Given the description of an element on the screen output the (x, y) to click on. 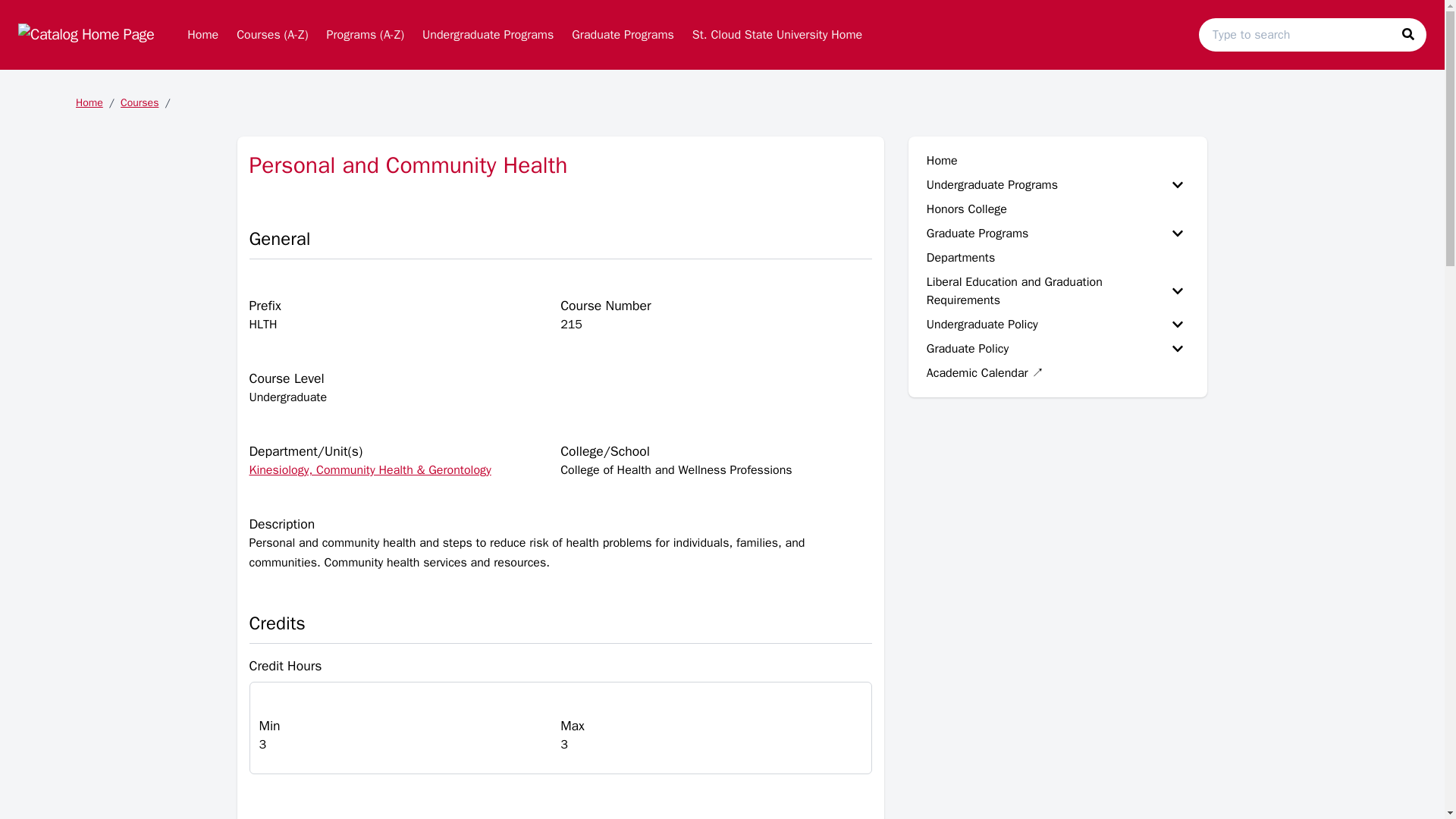
Undergraduate Programs (487, 34)
St. Cloud State University Home (776, 34)
Undergraduate Programs (487, 34)
Graduate Programs (622, 34)
Graduate Programs (622, 34)
Home (202, 34)
St. Cloud State University Home (776, 34)
Home (202, 34)
